Given the description of an element on the screen output the (x, y) to click on. 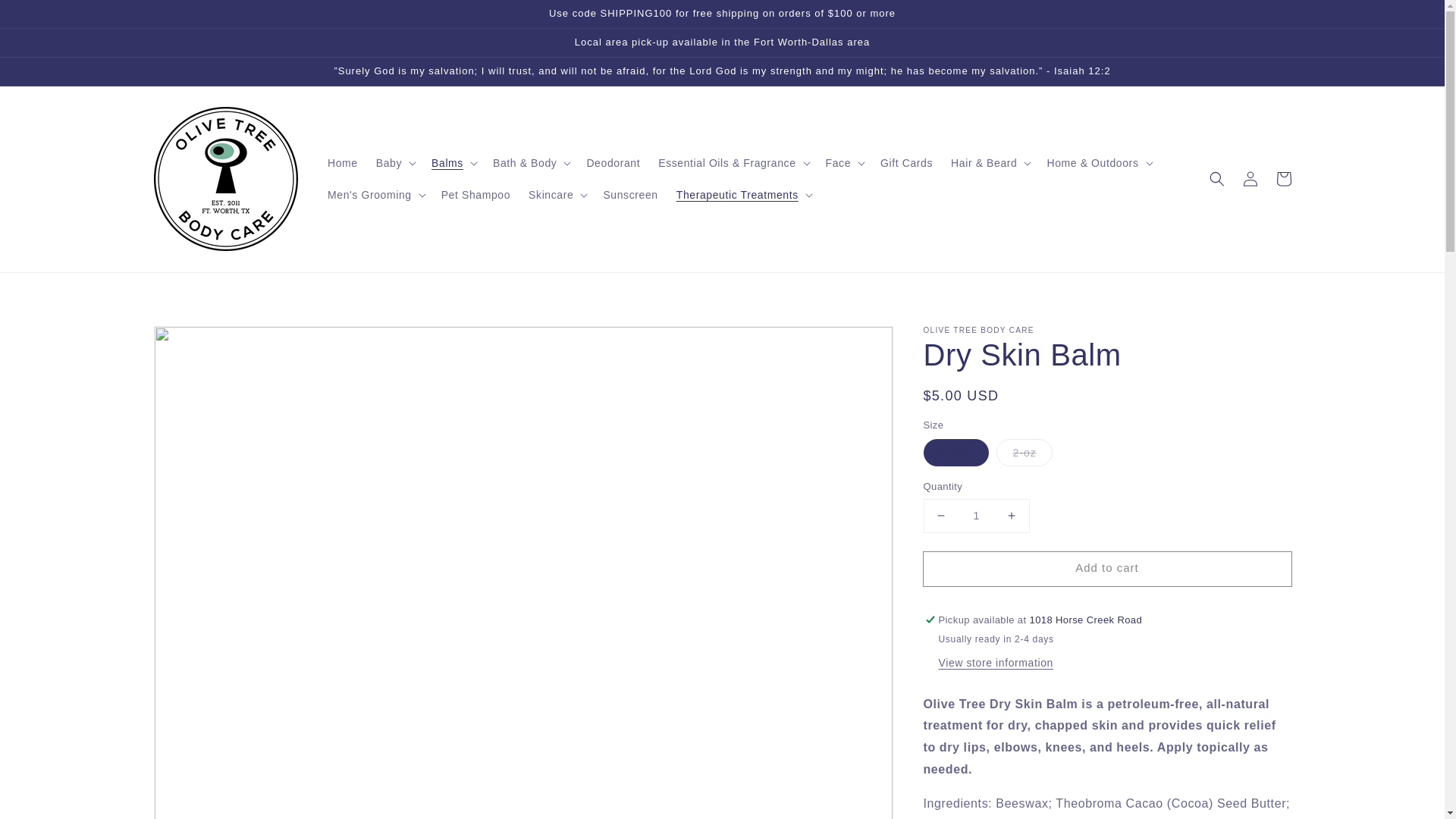
1 (976, 515)
Skip to content (45, 16)
